Given the description of an element on the screen output the (x, y) to click on. 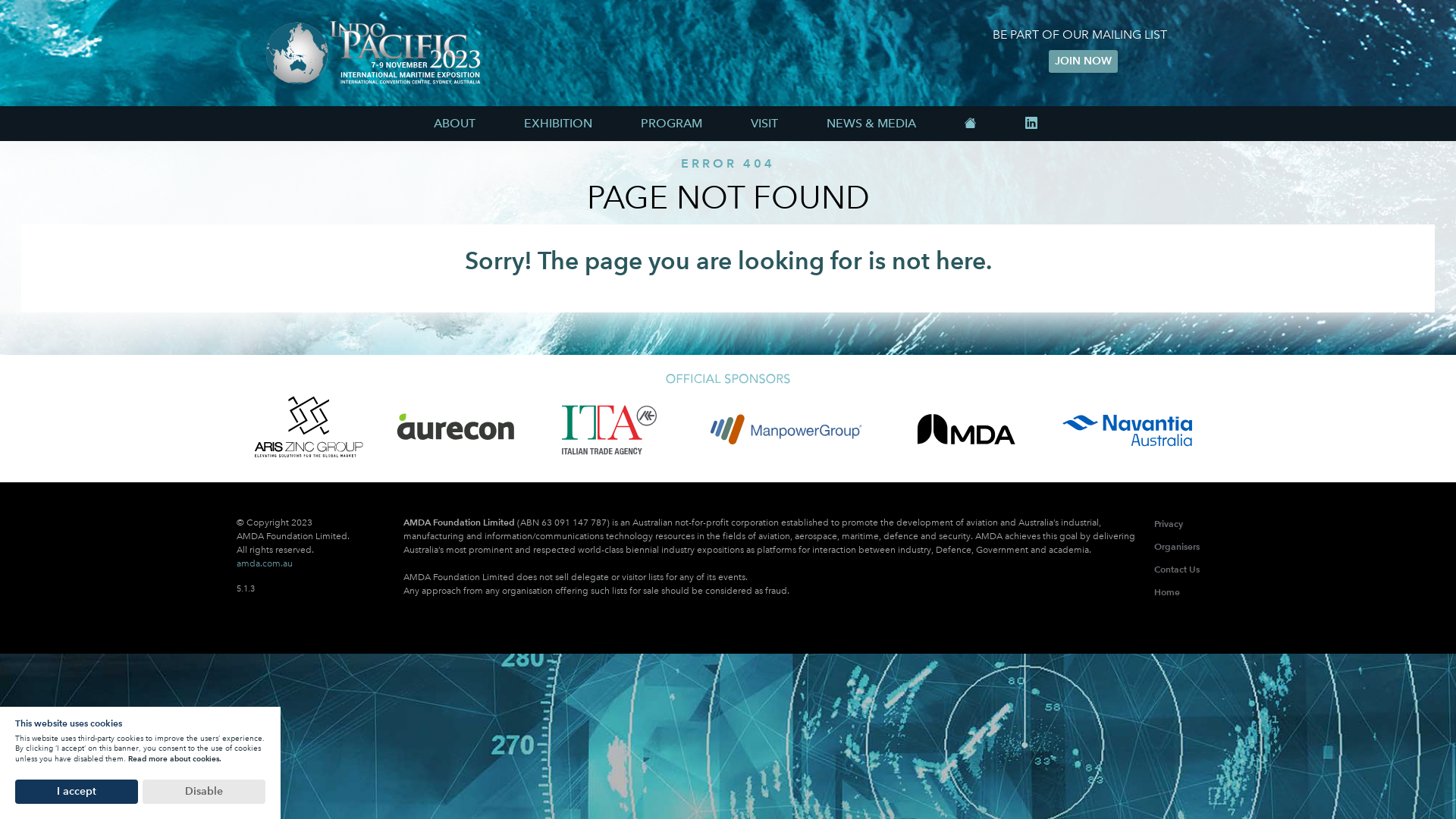
PROGRAM Element type: text (671, 123)
Read more about cookies. Element type: text (174, 758)
ABOUT Element type: text (454, 123)
amda.com.au Element type: text (264, 563)
I accept Element type: text (76, 791)
NEWS & MEDIA Element type: text (871, 123)
Disable Element type: text (203, 791)
JOIN NOW Element type: text (1082, 61)
Privacy Element type: text (1168, 523)
Contact Us Element type: text (1176, 568)
VISIT Element type: text (764, 123)
EXHIBITION Element type: text (557, 123)
Home Element type: text (1166, 591)
Organisers Element type: text (1176, 546)
